Given the description of an element on the screen output the (x, y) to click on. 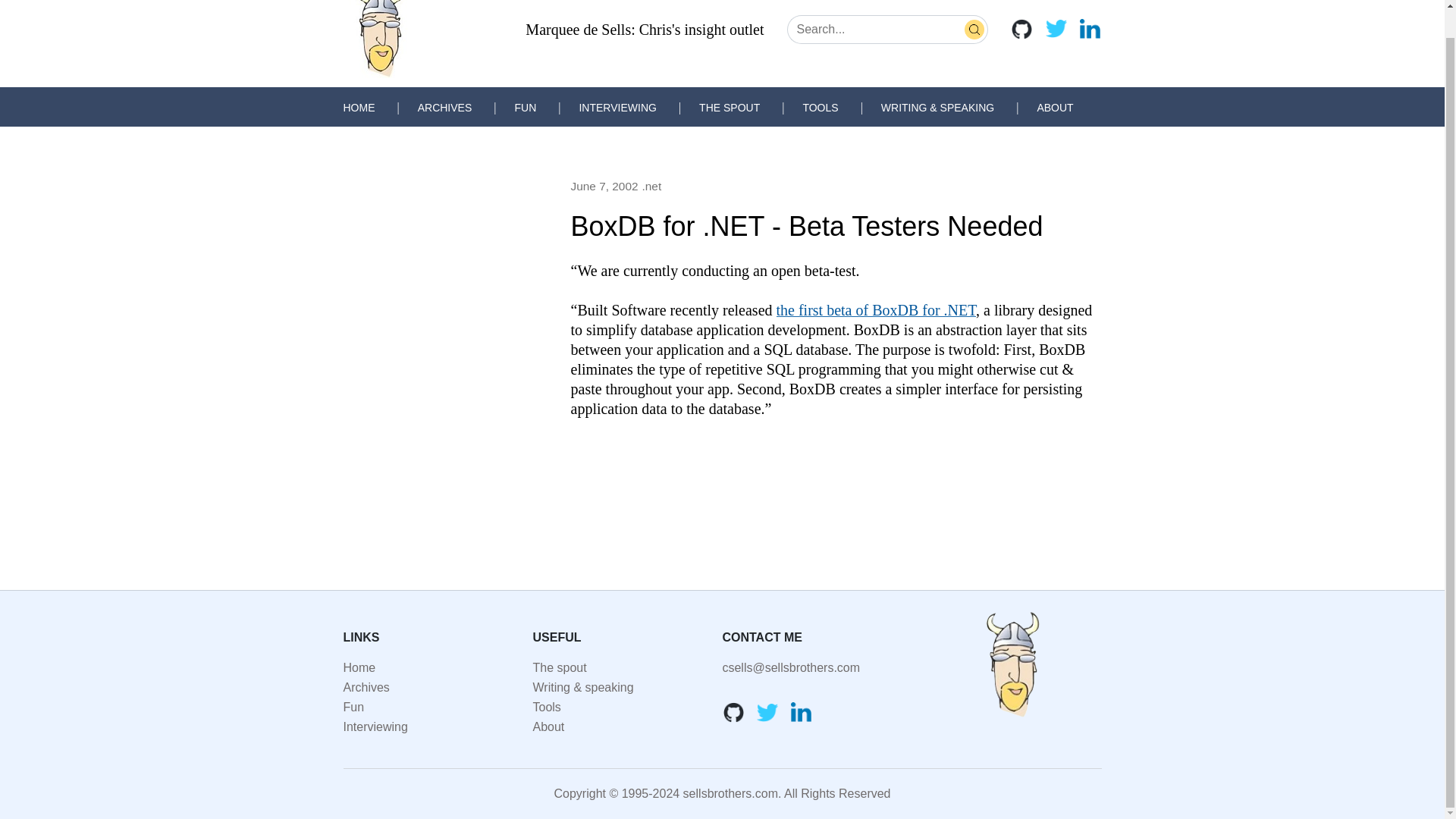
FUN (524, 107)
INTERVIEWING (617, 107)
TOOLS (820, 107)
Marquee de Sells: Chris's insight outlet (643, 29)
HOME (358, 107)
.net (651, 186)
Twitter (766, 712)
Archives (365, 686)
Fun (353, 707)
About (548, 726)
